Given the description of an element on the screen output the (x, y) to click on. 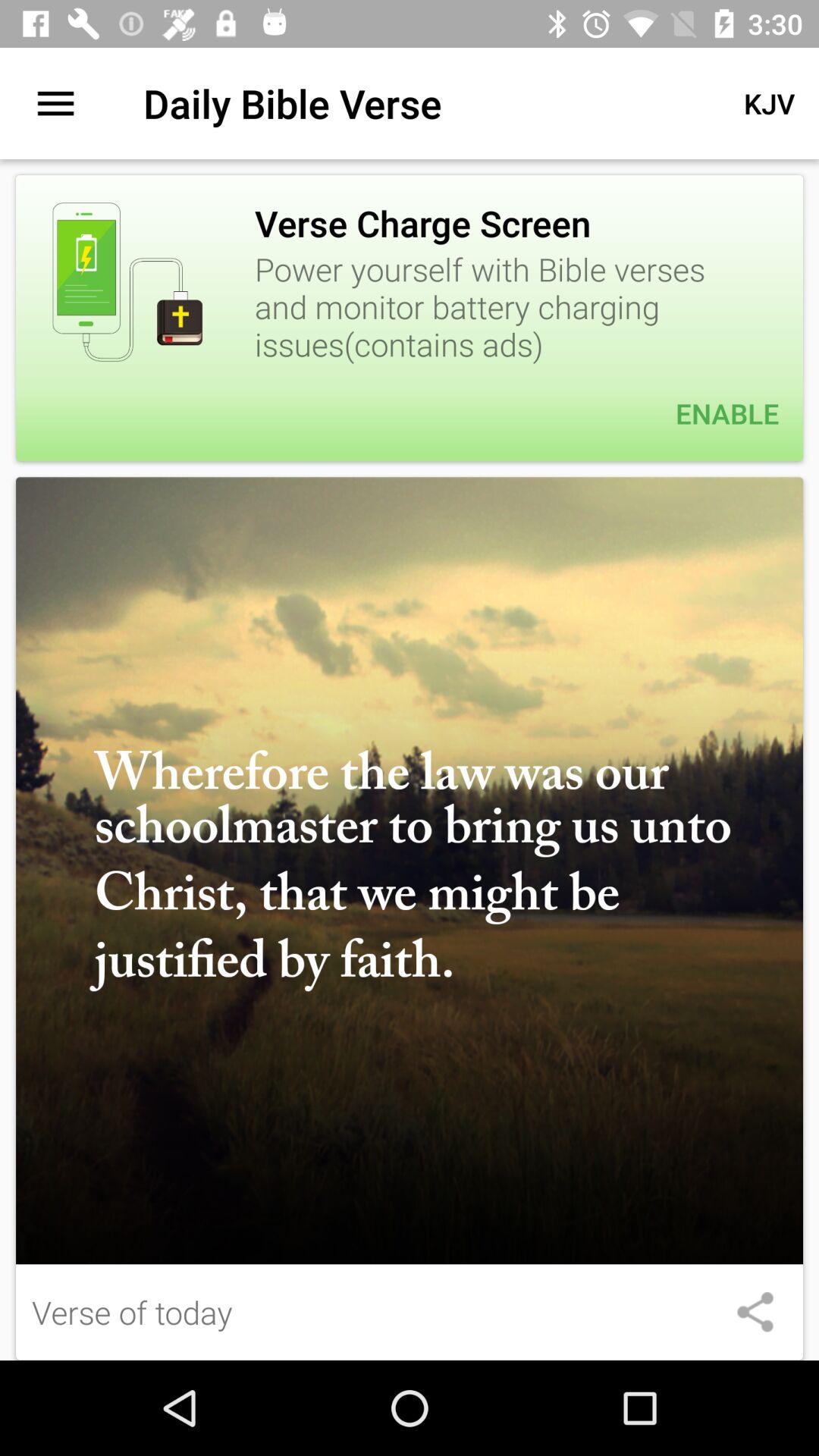
launch the enable icon (409, 413)
